Given the description of an element on the screen output the (x, y) to click on. 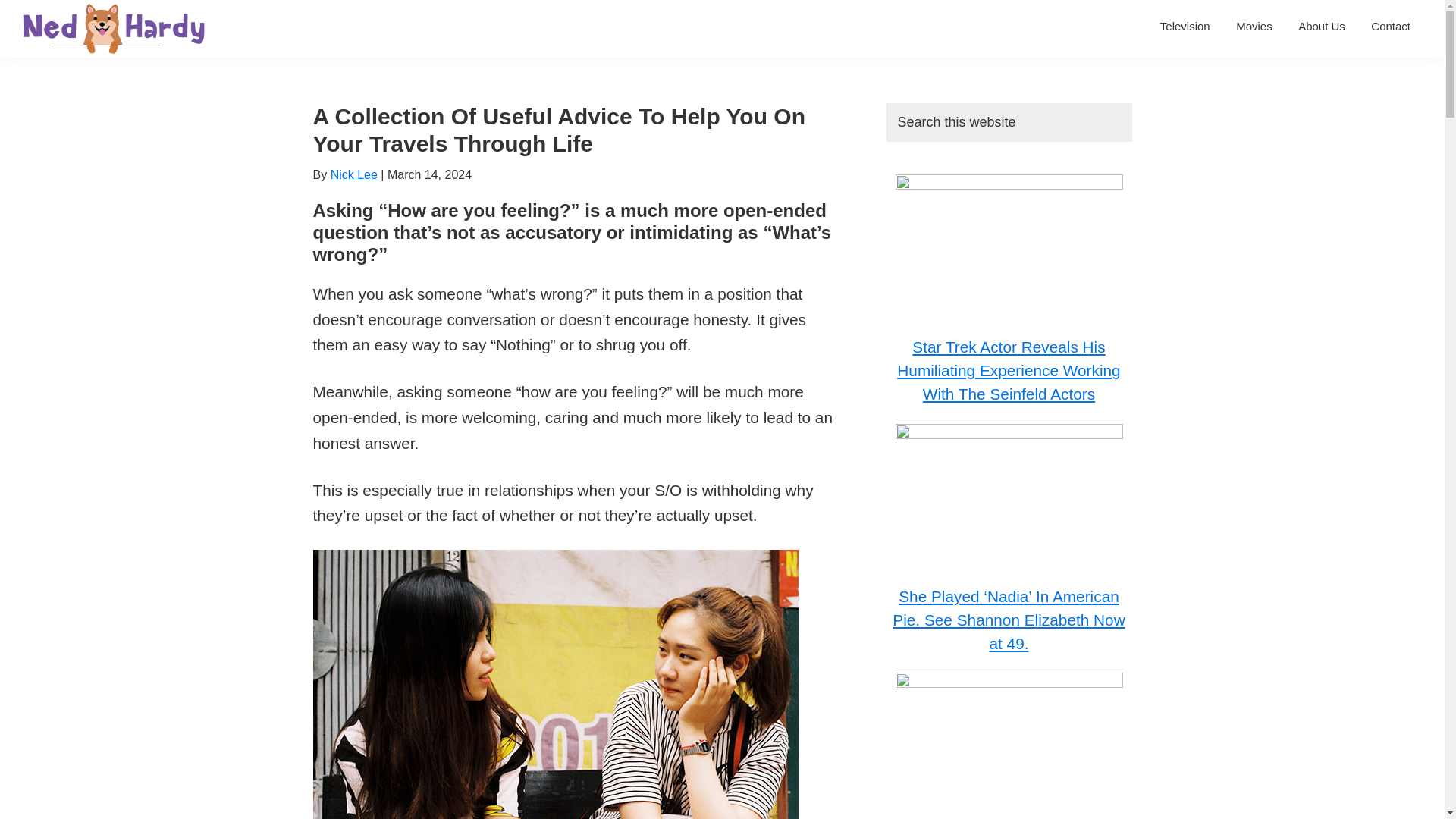
About Us (1321, 25)
Nick Lee (353, 174)
Contact (1390, 25)
Movies (1254, 25)
Television (1184, 25)
